Given the description of an element on the screen output the (x, y) to click on. 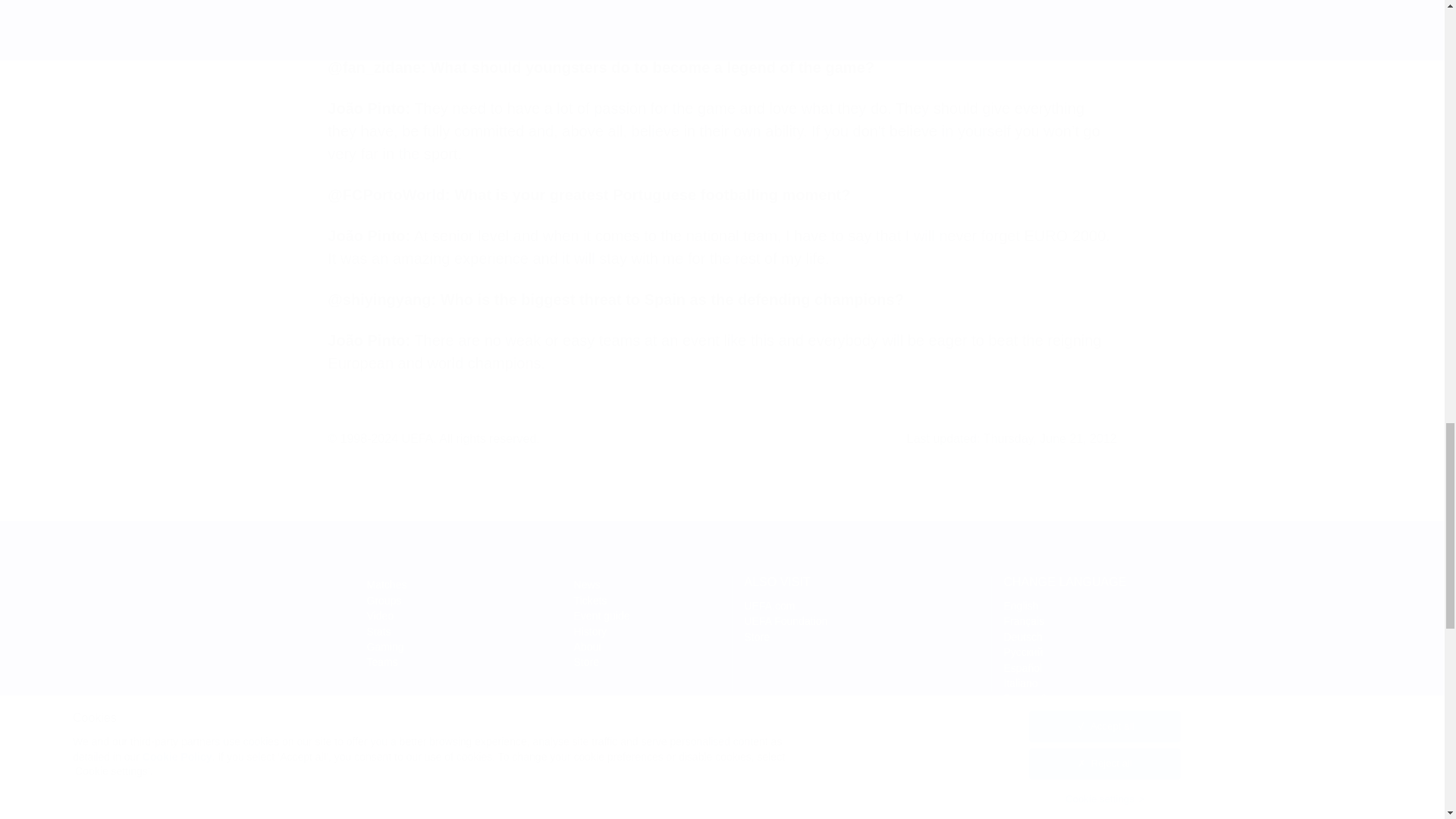
Groups (383, 600)
Stats (378, 631)
Store (757, 636)
English (1021, 605)
Tickets (590, 600)
Gaming (385, 646)
Video (380, 615)
Teams (381, 662)
News (586, 584)
Store (757, 636)
